Given the description of an element on the screen output the (x, y) to click on. 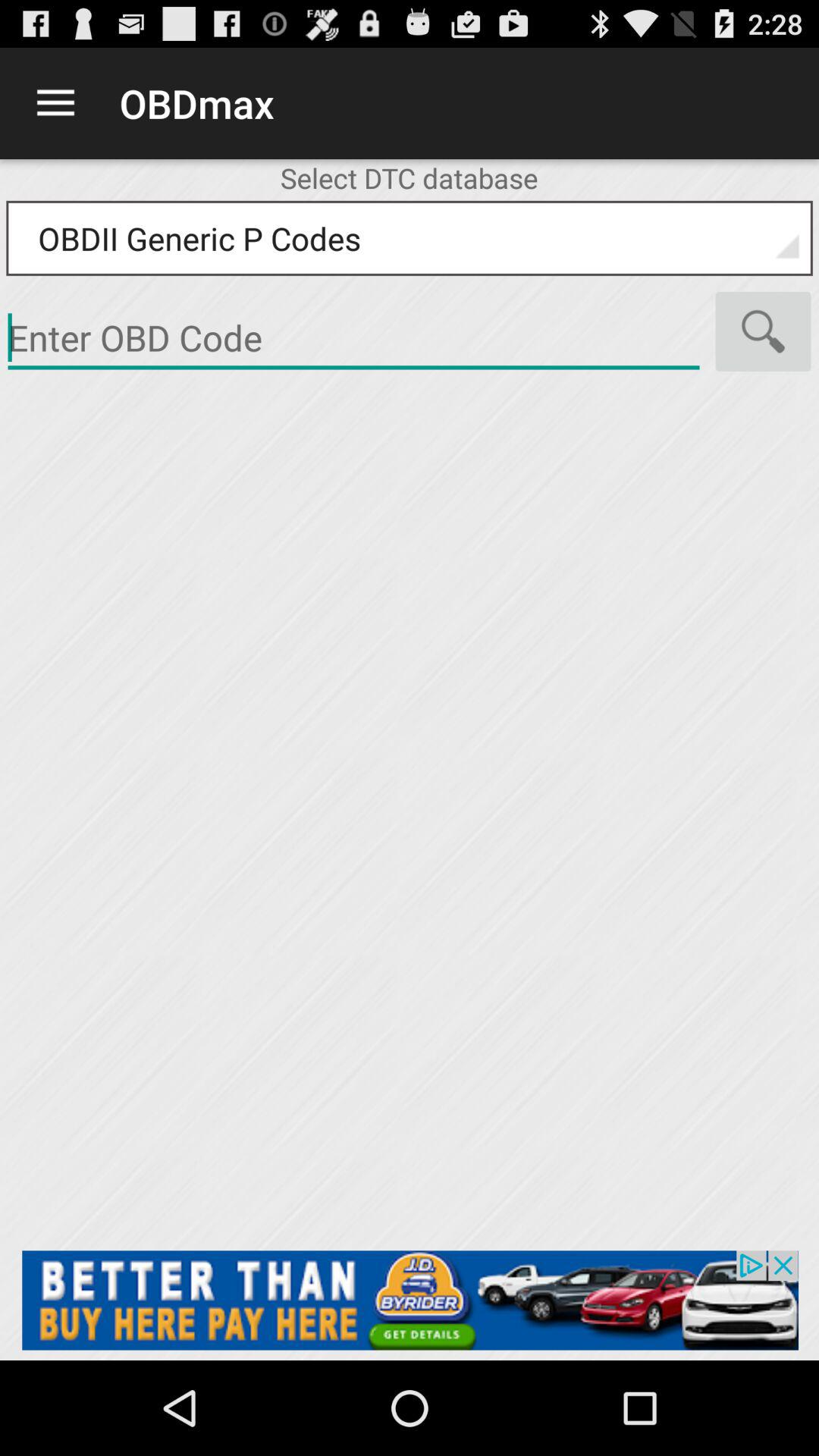
select add (409, 1300)
